Given the description of an element on the screen output the (x, y) to click on. 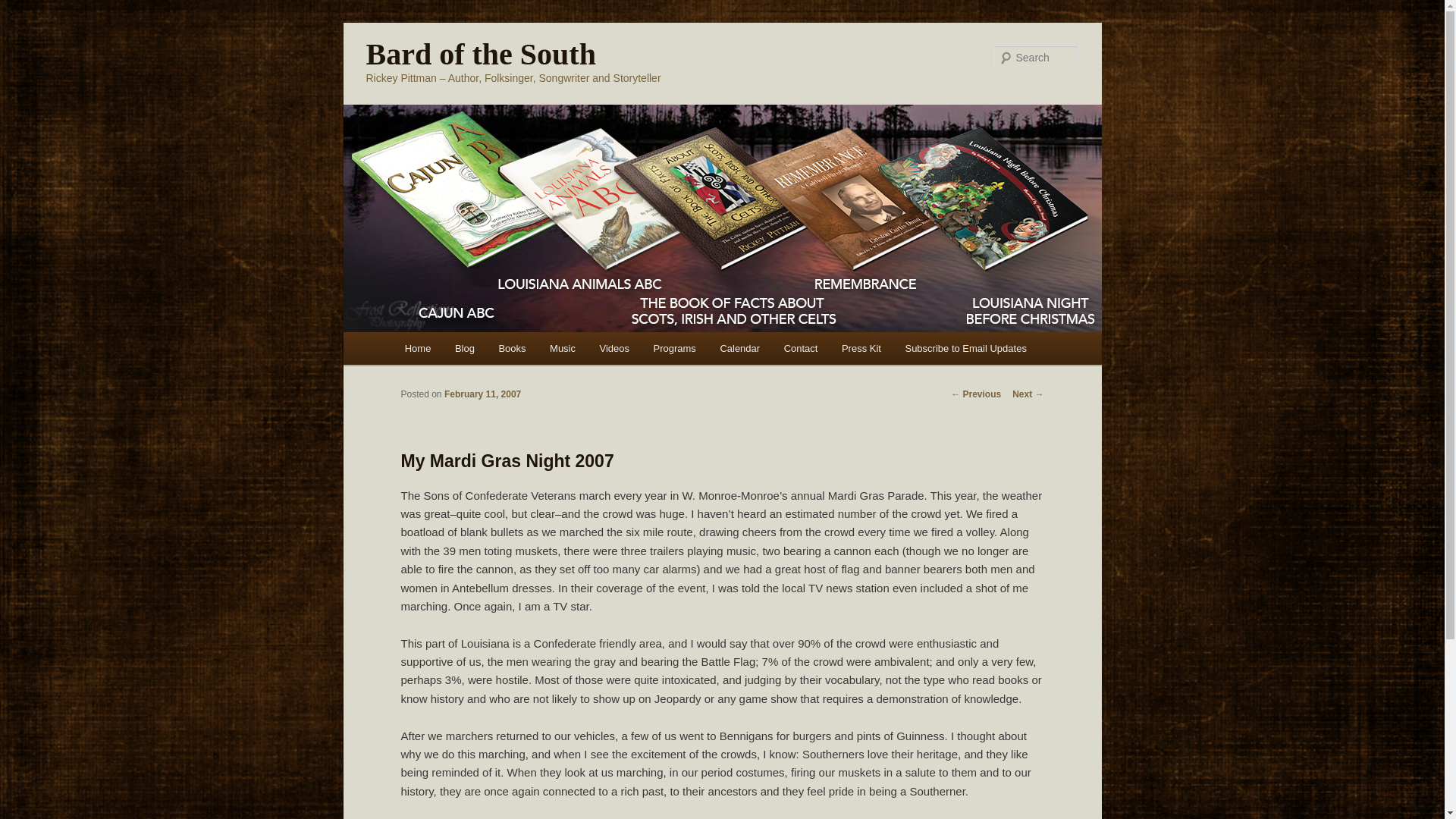
Videos (615, 348)
Books (512, 348)
Blog (464, 348)
10:52 am (482, 394)
Bard of the South (480, 53)
Home (417, 348)
February 11, 2007 (482, 394)
Press Kit (861, 348)
Search (24, 8)
Contact (800, 348)
Subscribe to Email Updates (966, 348)
Calendar (739, 348)
Music (561, 348)
